Given the description of an element on the screen output the (x, y) to click on. 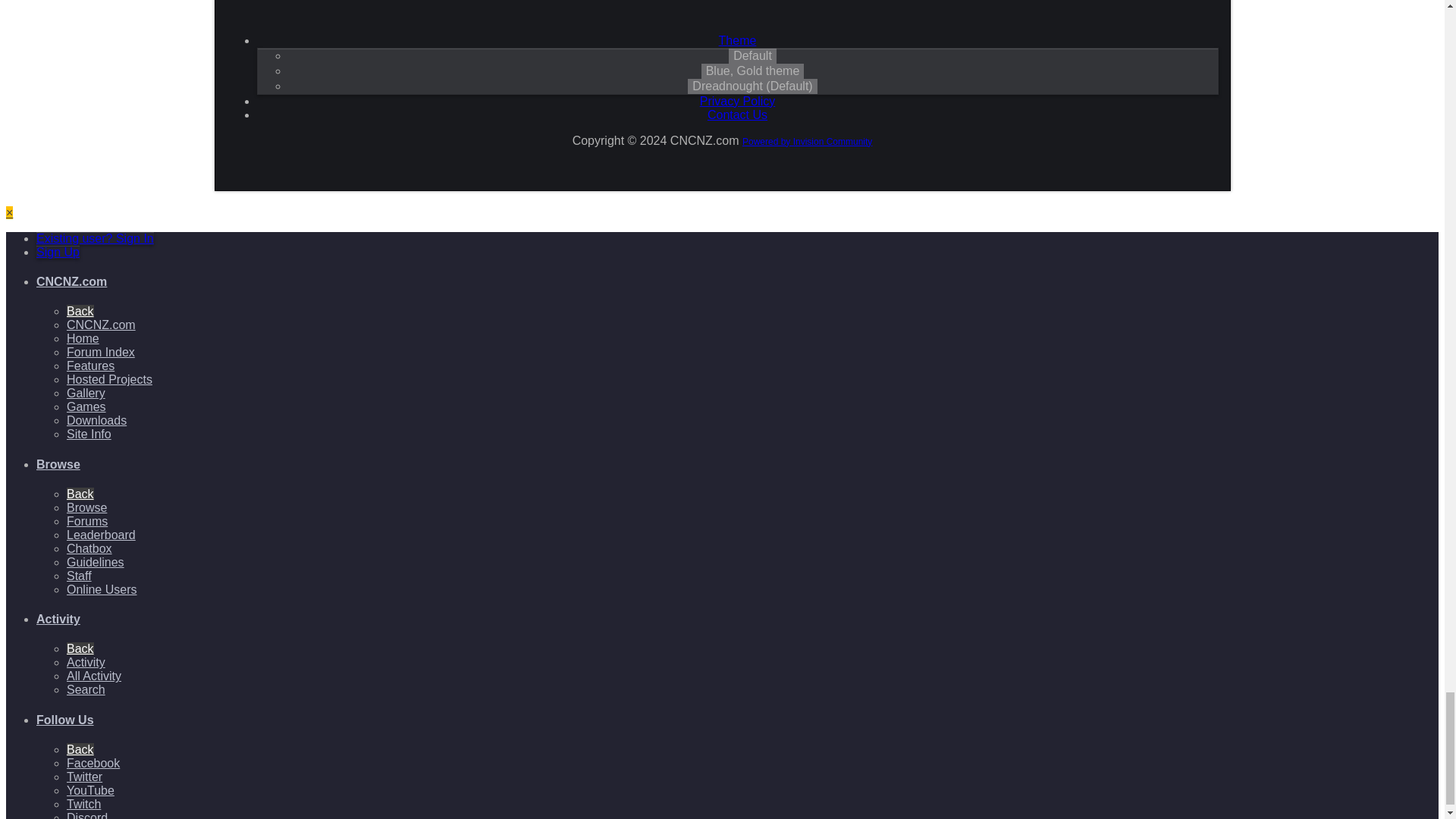
Invision Community (807, 141)
